Given the description of an element on the screen output the (x, y) to click on. 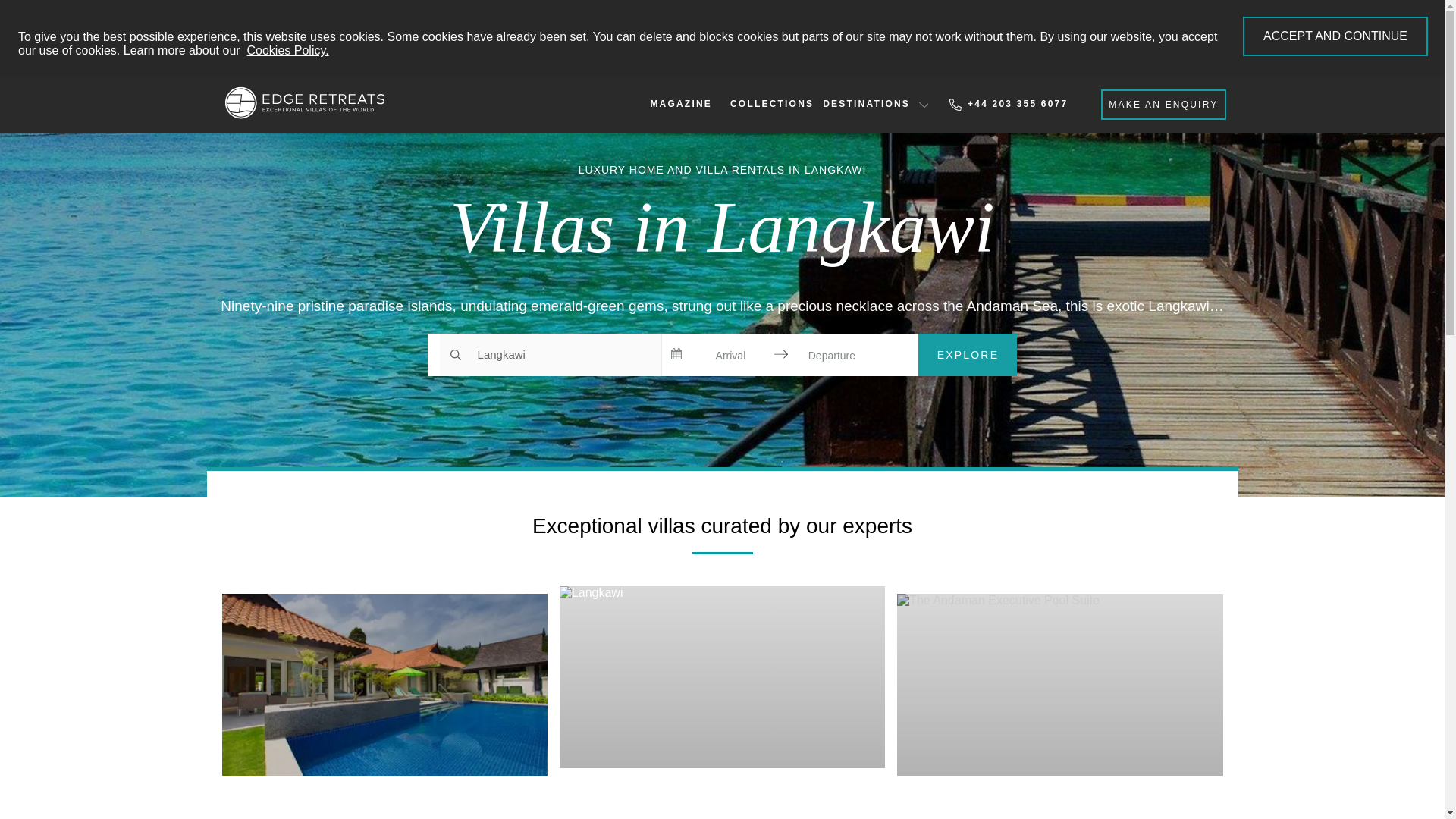
COLLECTIONS (771, 104)
Cookies Policy. (288, 50)
MAKE AN ENQUIRY (1162, 104)
ACCEPT AND CONTINUE (1335, 36)
Langkawi (722, 796)
Langkawi (550, 354)
MAGAZINE (680, 104)
